Given the description of an element on the screen output the (x, y) to click on. 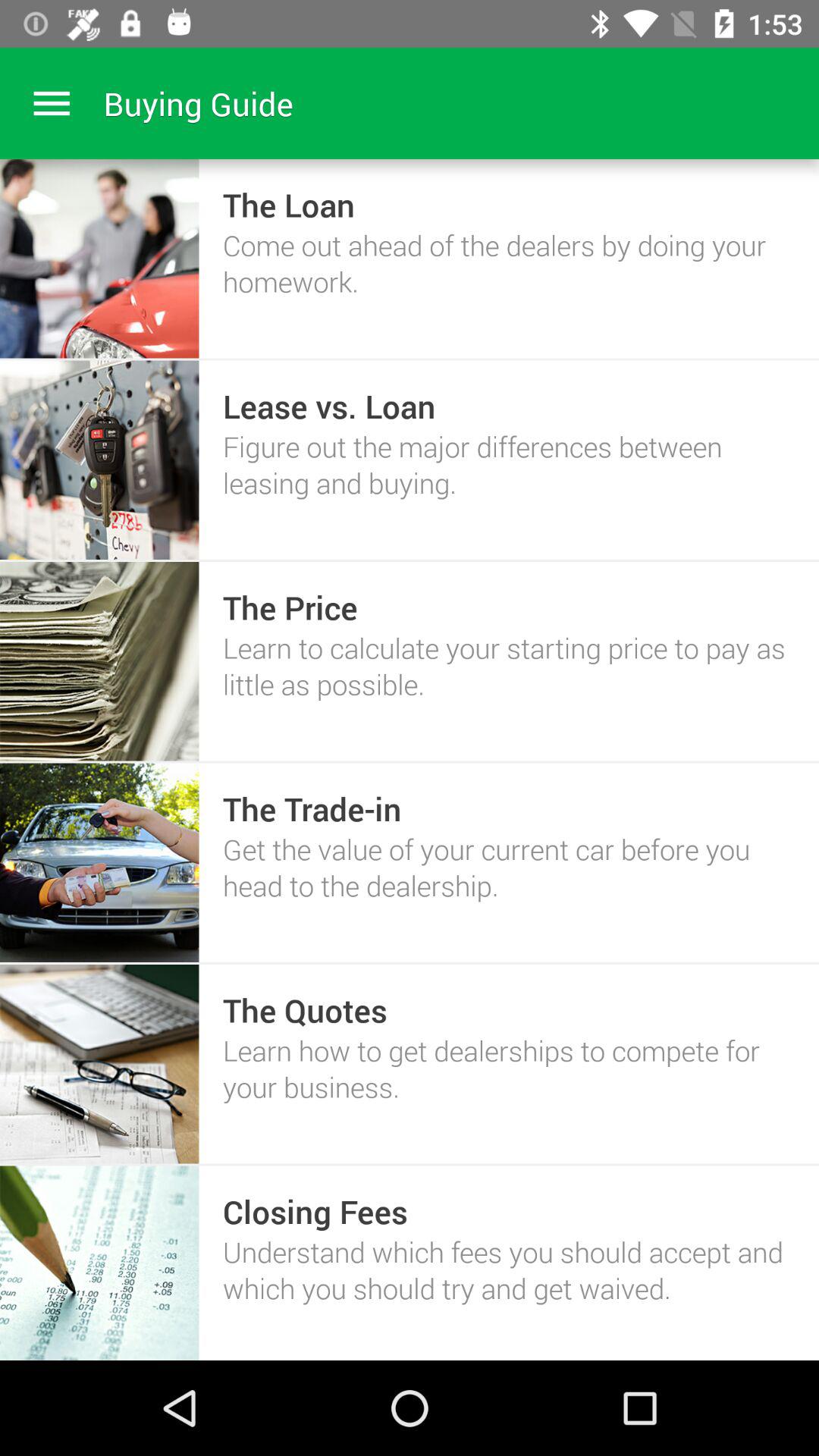
launch the price (289, 607)
